Given the description of an element on the screen output the (x, y) to click on. 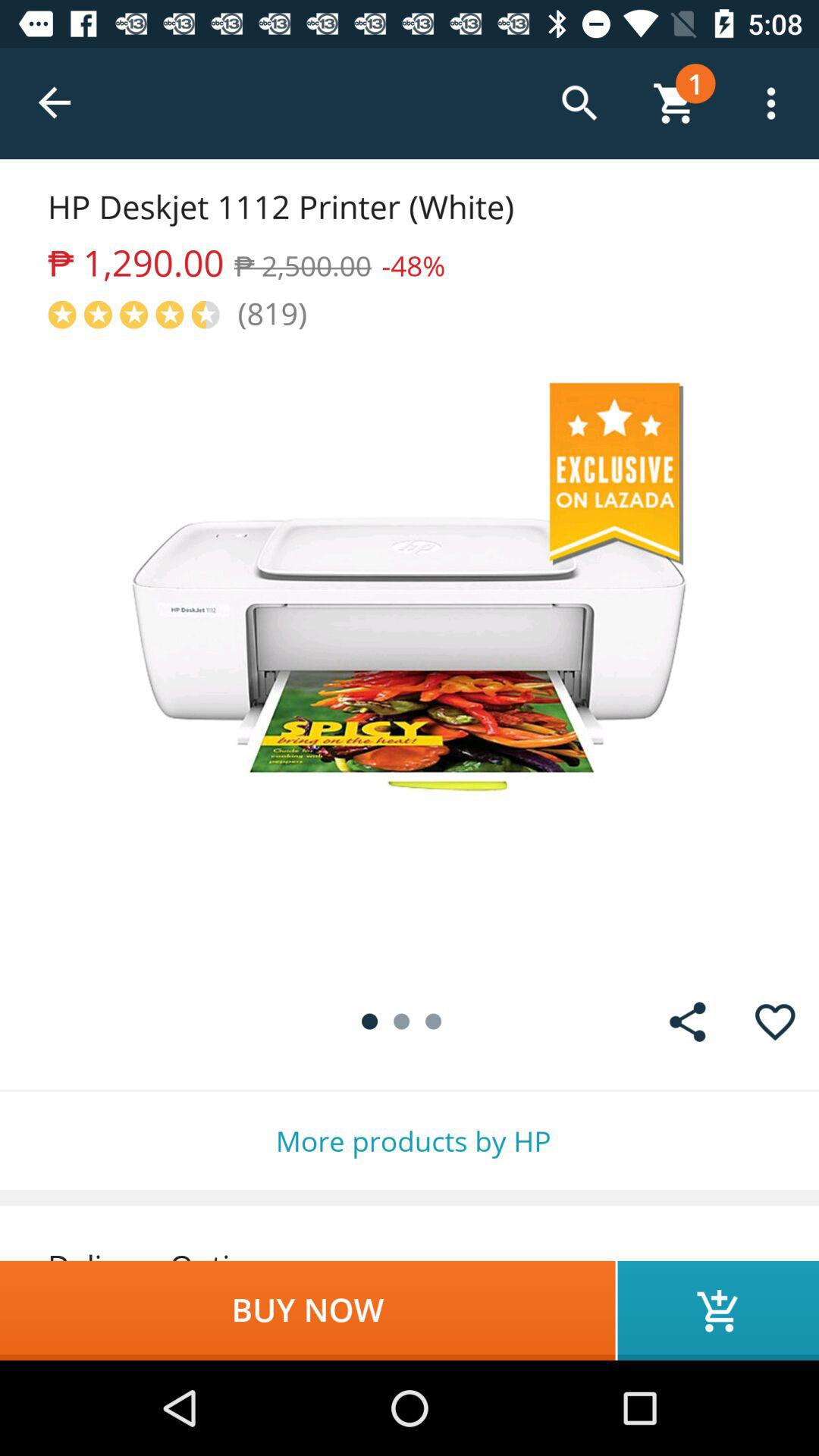
press the item above more products by item (687, 1021)
